Given the description of an element on the screen output the (x, y) to click on. 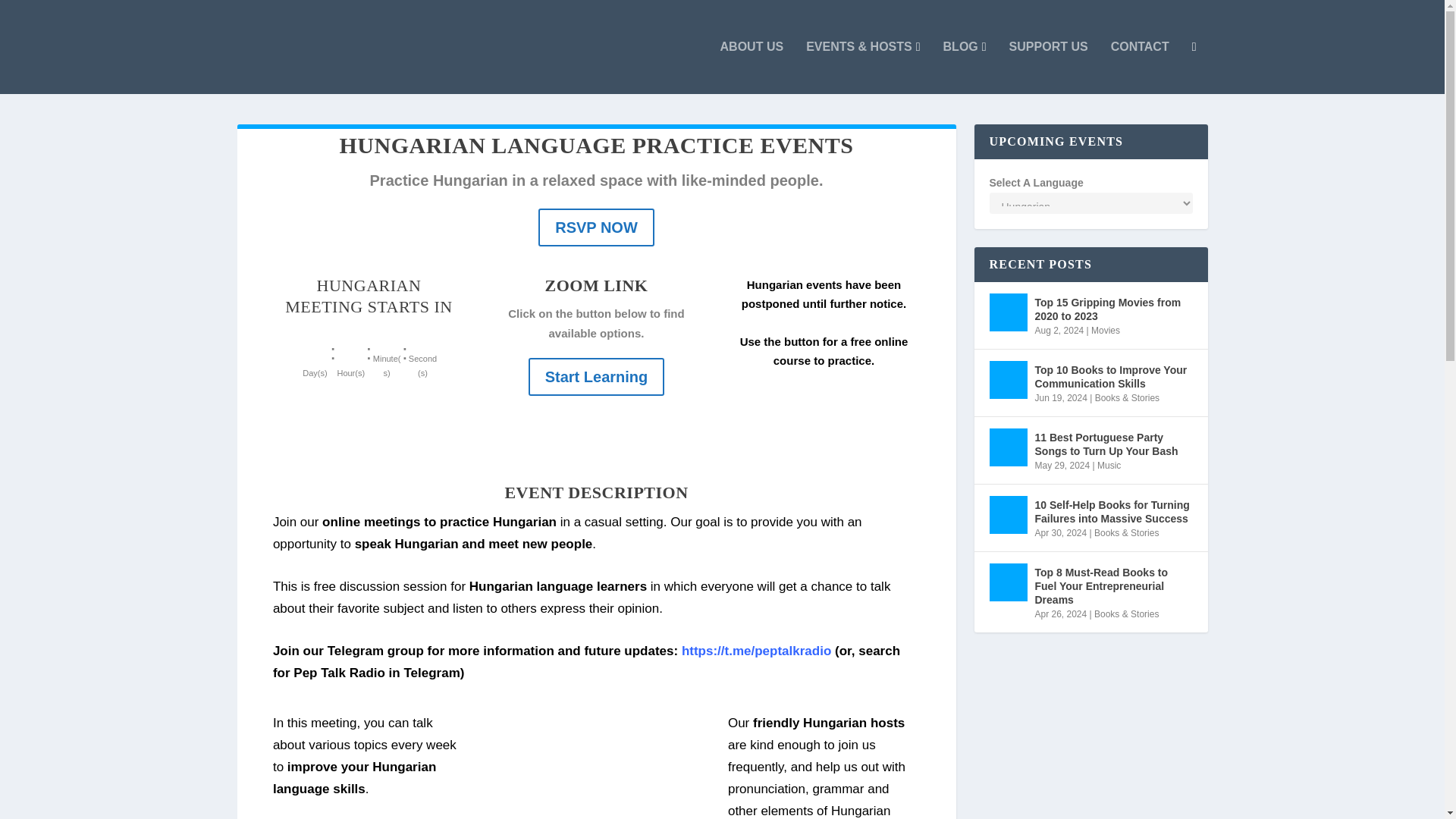
Start Learning (596, 376)
Top 10 Books to Improve Your Communication Skills (1007, 379)
ABOUT US (752, 67)
11 Best Portuguese Party Songs to Turn Up Your Bash (1007, 447)
Top 15 Gripping Movies from 2020 to 2023 (1112, 309)
RSVP NOW (595, 227)
SUPPORT US (1048, 67)
Movies (1104, 330)
Top 15 Gripping Movies from 2020 to 2023 (1007, 312)
CONTACT (1139, 67)
